Given the description of an element on the screen output the (x, y) to click on. 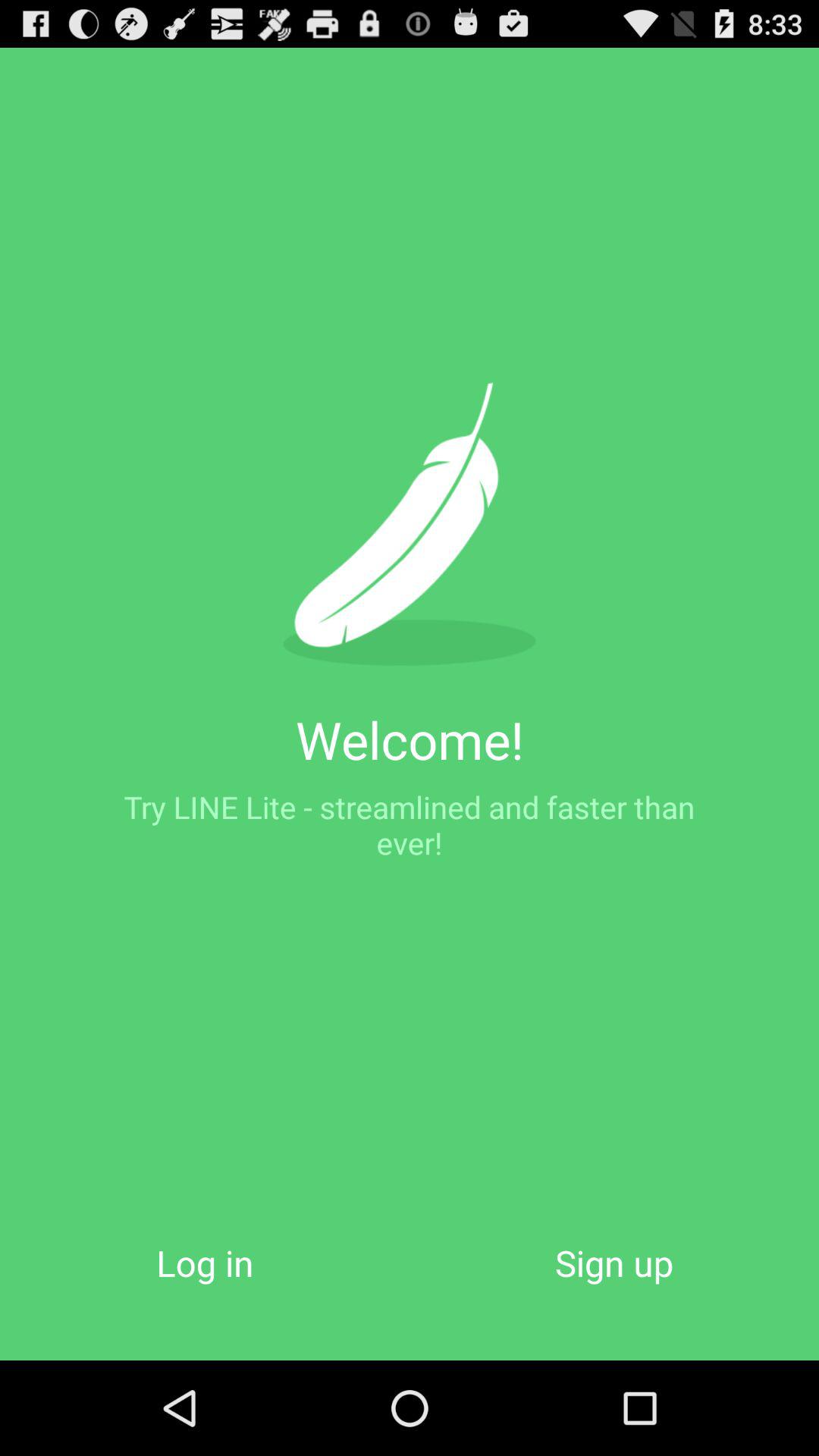
turn off icon next to log in button (614, 1262)
